Given the description of an element on the screen output the (x, y) to click on. 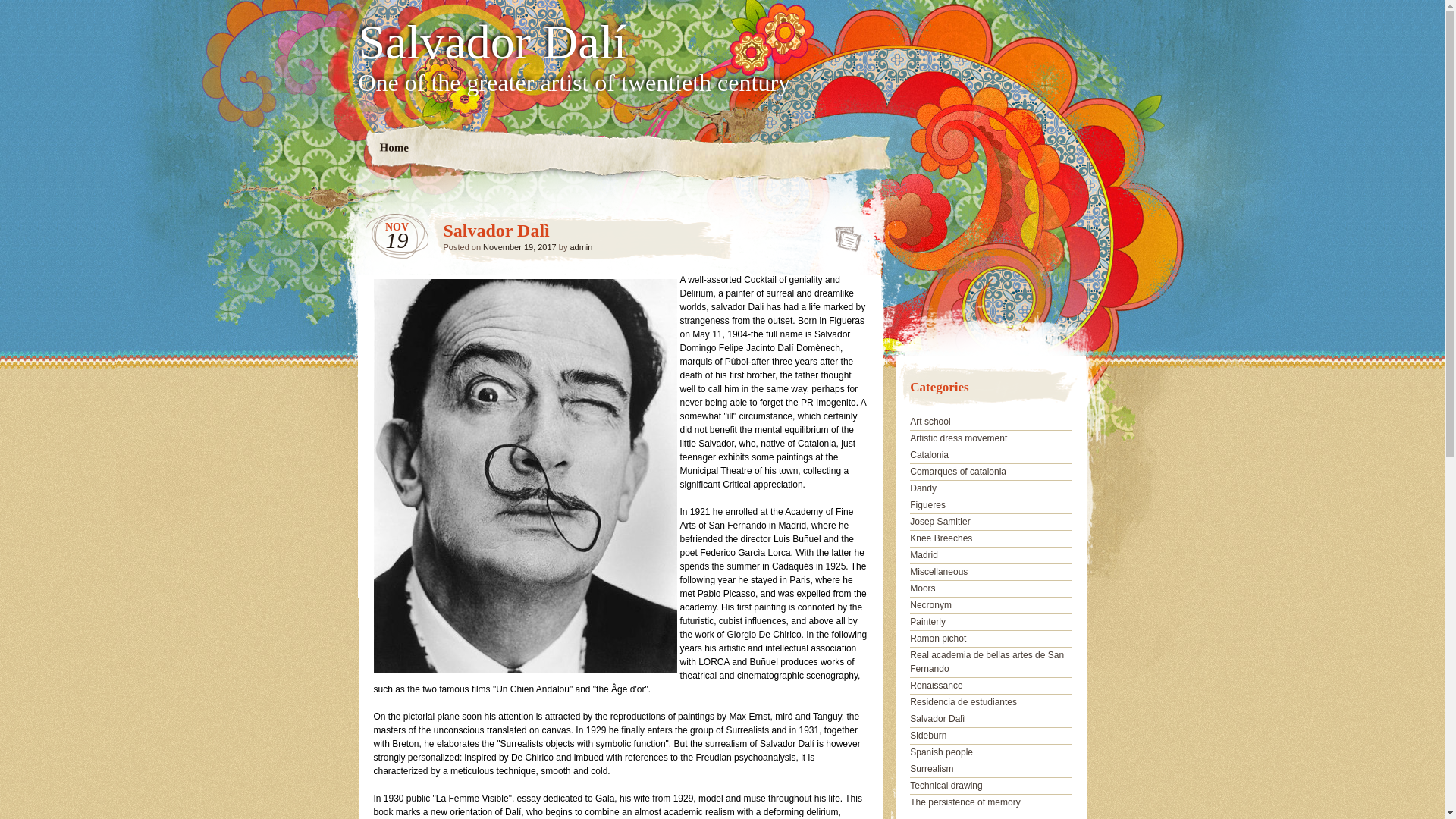
Ramon pichot Element type: text (938, 638)
Catalonia Element type: text (929, 454)
admin Element type: text (580, 246)
Dandy Element type: text (923, 488)
Technical drawing Element type: text (946, 785)
Knee Breeches Element type: text (941, 538)
Necronym Element type: text (930, 604)
Josep Samitier Element type: text (939, 521)
Art school Element type: text (930, 421)
Comarques of catalonia Element type: text (958, 471)
Painterly Element type: text (927, 621)
November 19, 2017 Element type: text (519, 246)
Miscellaneous Element type: text (938, 571)
Sideburn Element type: text (928, 735)
Artistic dress movement Element type: text (958, 438)
Moors Element type: text (922, 588)
Renaissance Element type: text (936, 685)
The persistence of memory Element type: text (964, 802)
Home Element type: text (393, 149)
Real academia de bellas artes de San Fernando Element type: text (986, 661)
Surrealism Element type: text (931, 768)
Spanish people Element type: text (941, 751)
Madrid Element type: text (924, 554)
Residencia de estudiantes Element type: text (963, 701)
Figueres Element type: text (927, 504)
